Given the description of an element on the screen output the (x, y) to click on. 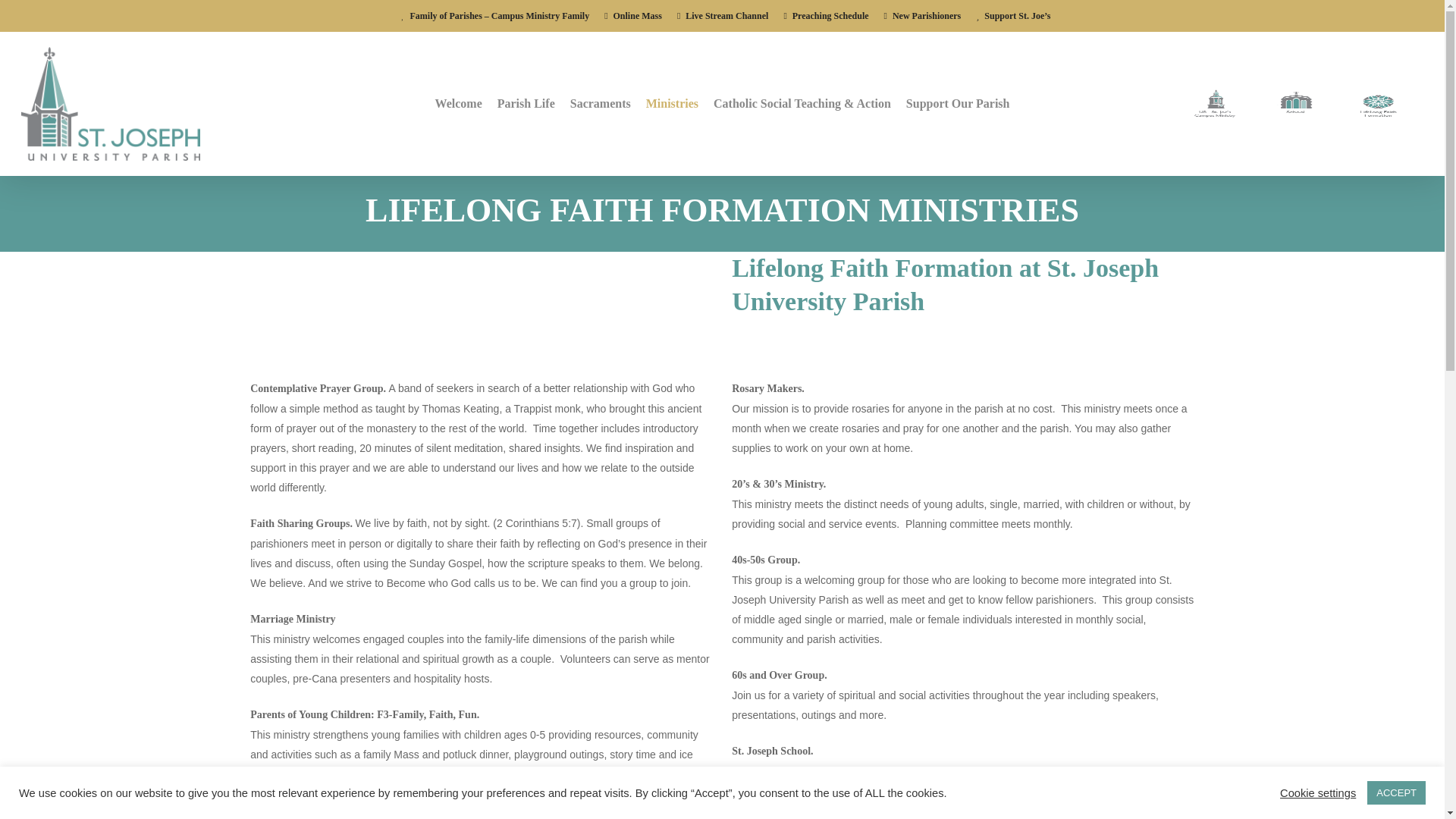
Ministries (672, 103)
Preaching Schedule (825, 15)
Online Mass (633, 15)
New Parishioners (921, 15)
Sacraments (600, 103)
Live Stream Channel (722, 15)
Parish Life (525, 103)
Welcome (458, 103)
